Given the description of an element on the screen output the (x, y) to click on. 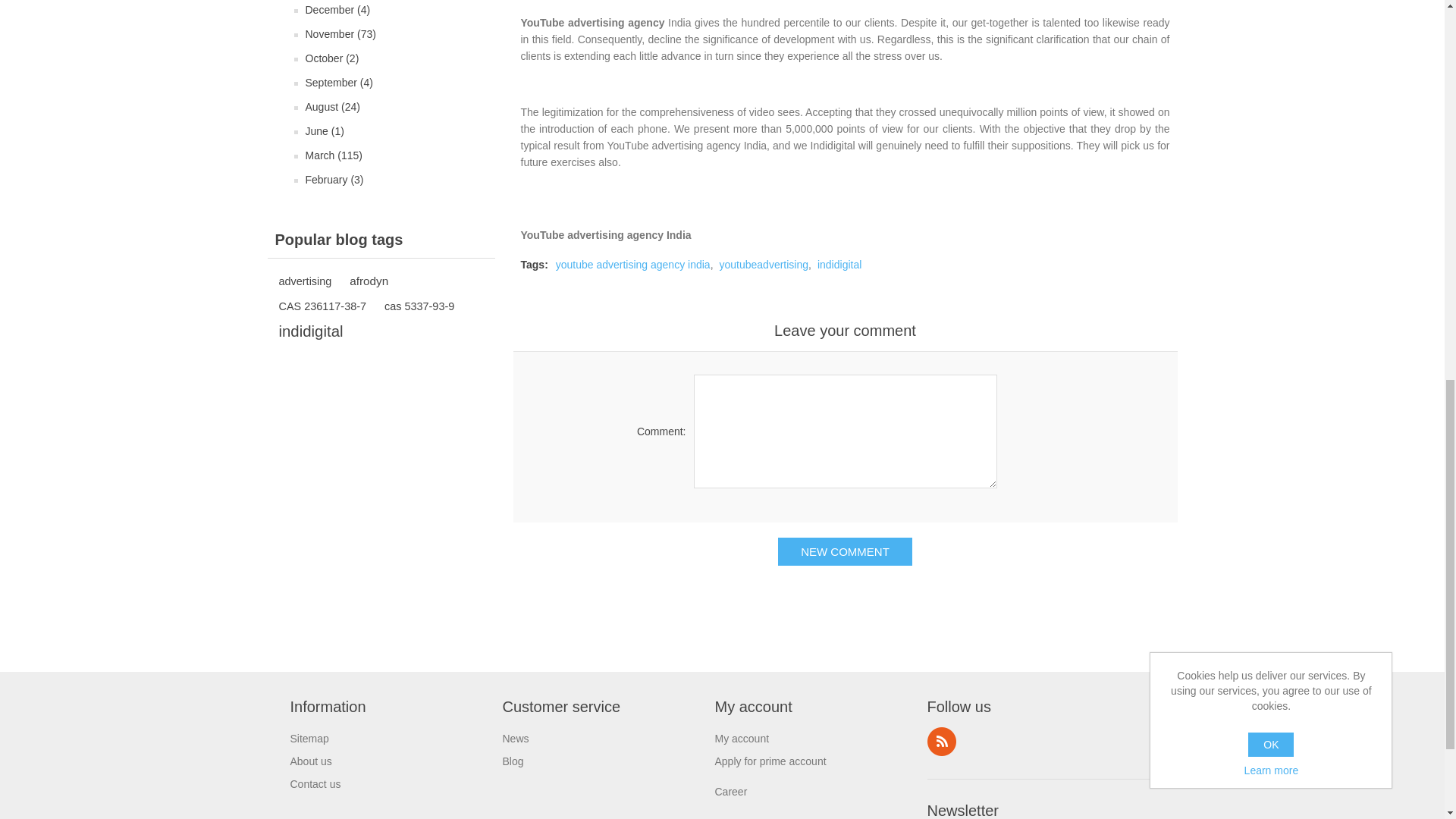
My account (741, 738)
afrodyn (368, 281)
indidigital (838, 264)
YouTube advertising agency India (604, 234)
indidigital (311, 331)
youtube advertising agency india (633, 264)
New comment (844, 551)
YouTube advertising agency (591, 22)
cas 5337-93-9 (419, 305)
youtubeadvertising (764, 264)
